Given the description of an element on the screen output the (x, y) to click on. 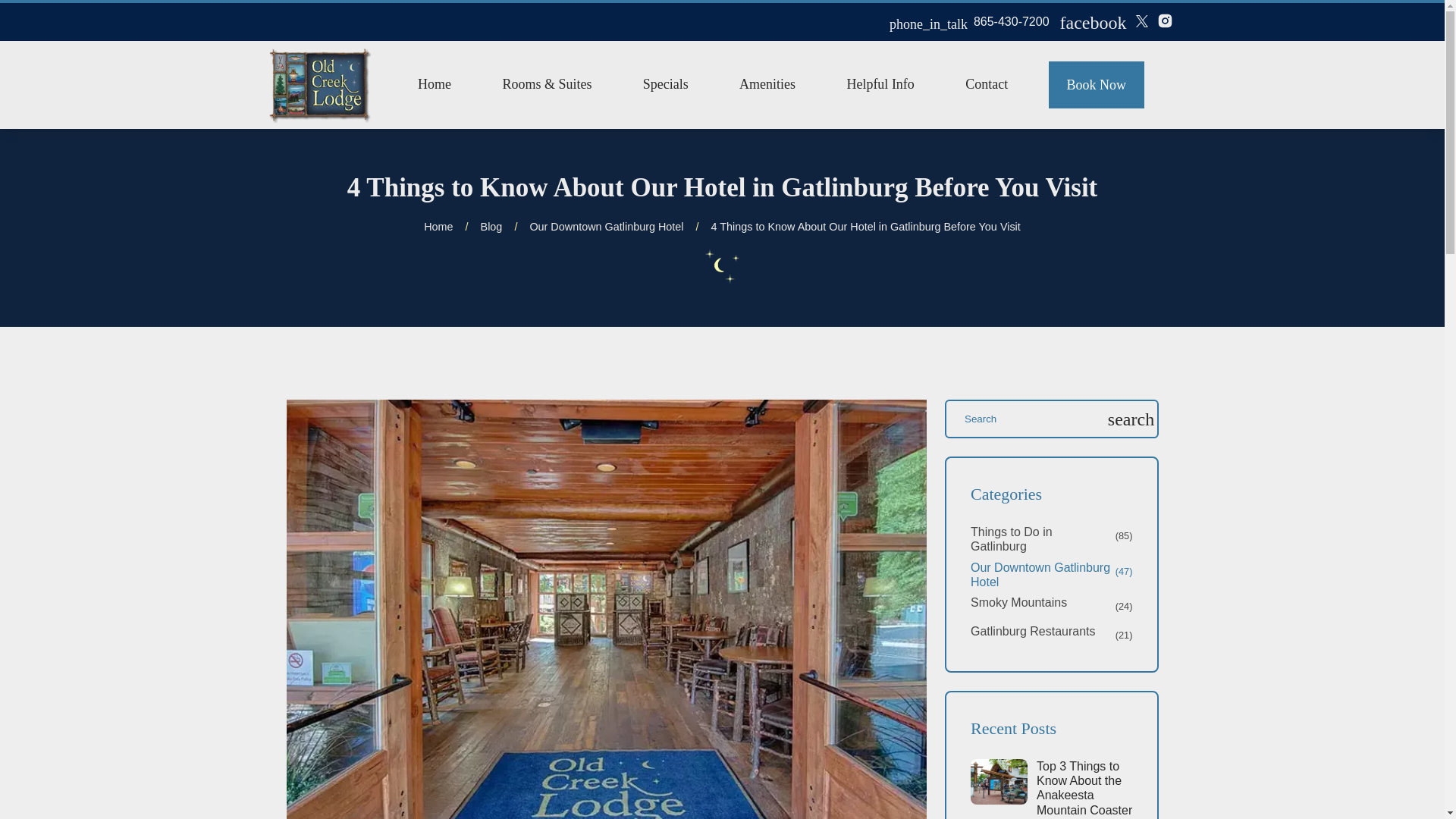
Helpful Info (879, 83)
Contact (986, 83)
facebook (1093, 23)
Book Now (1096, 84)
Home (434, 83)
Amenities (766, 83)
Specials (665, 83)
865-430-7200 (1011, 21)
